Given the description of an element on the screen output the (x, y) to click on. 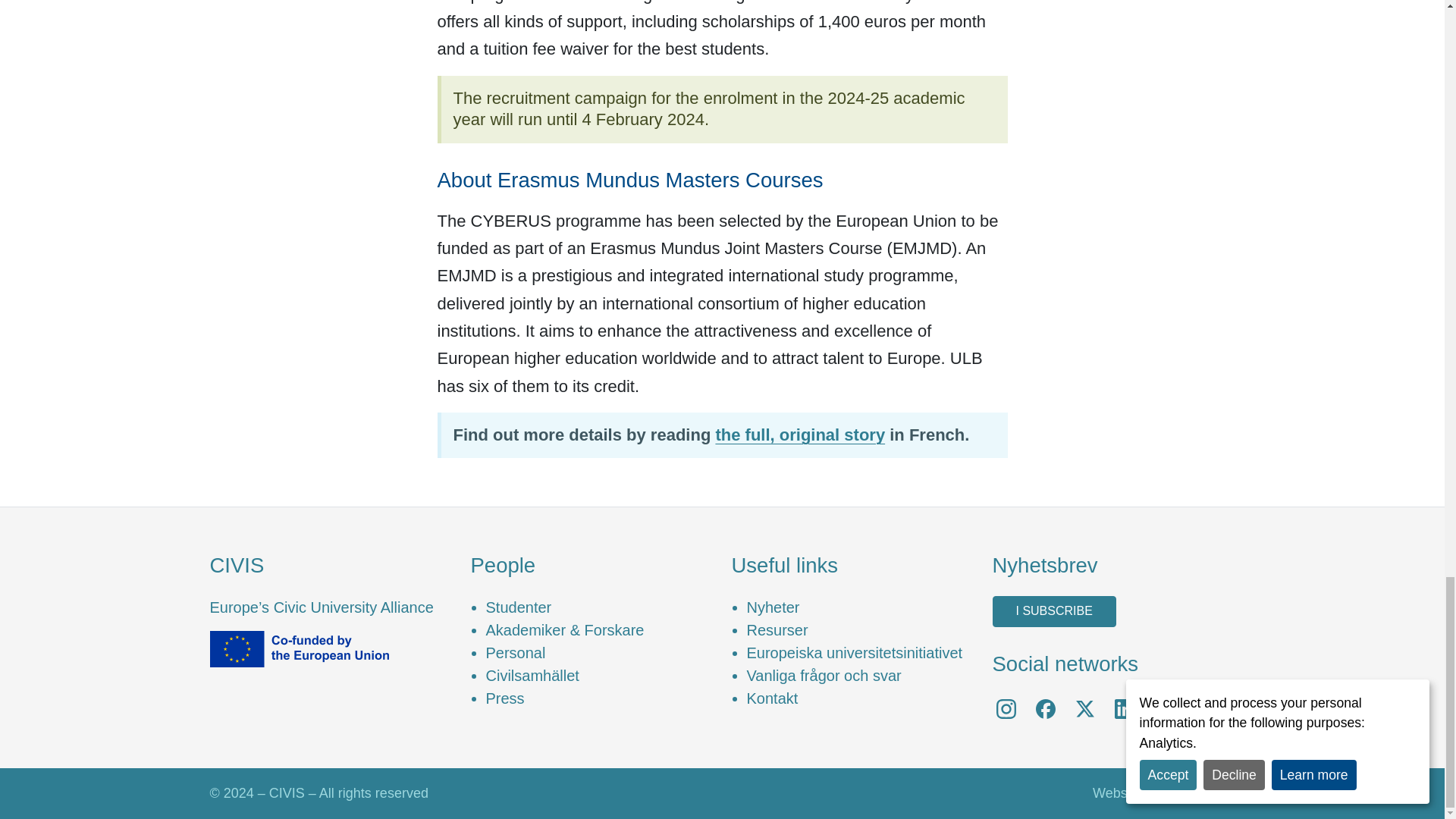
the full, original story (799, 434)
